Given the description of an element on the screen output the (x, y) to click on. 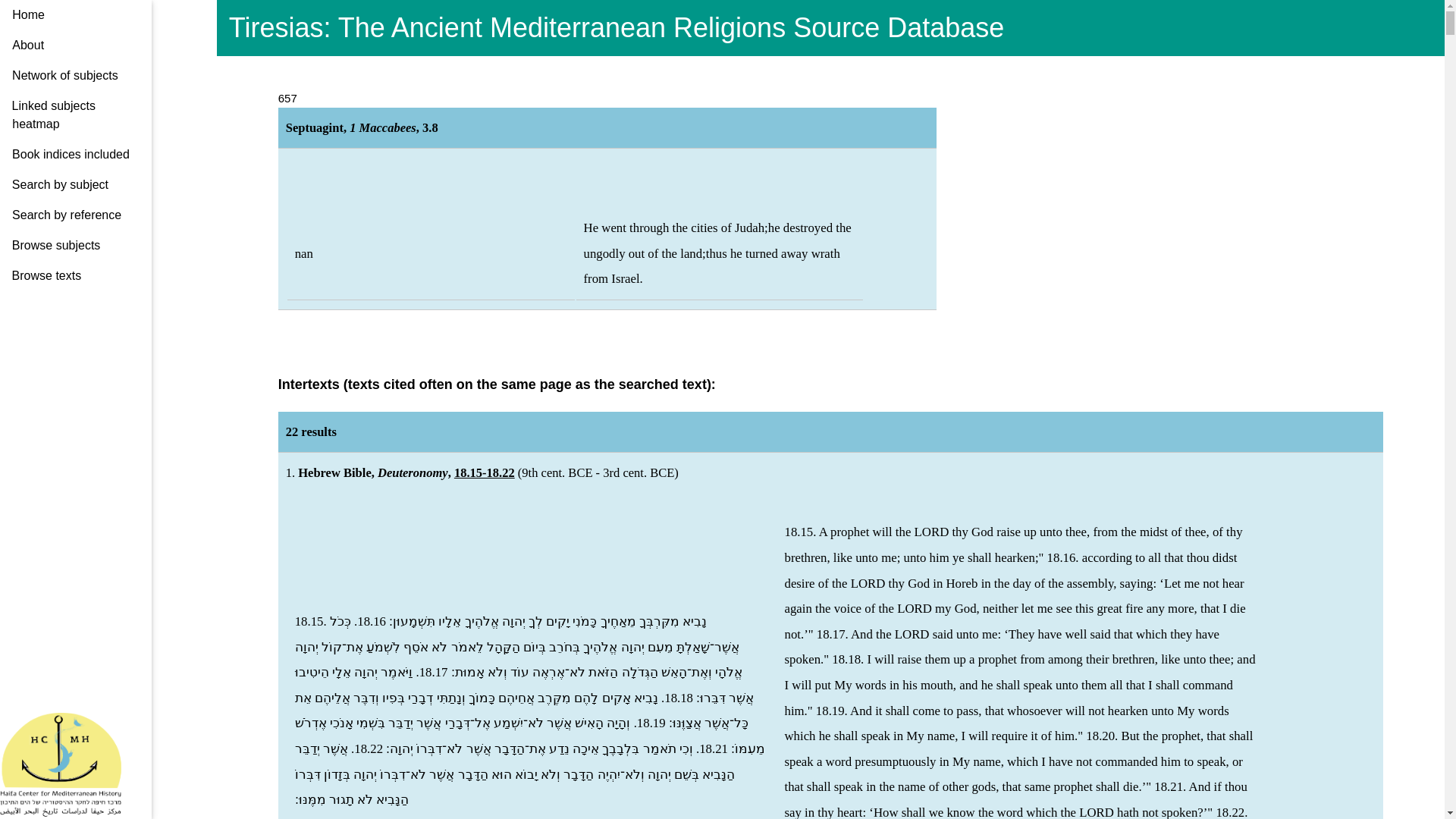
Search by reference (72, 214)
Book indices included (66, 154)
Browse texts (75, 276)
Search by subject (71, 184)
Network of subjects (53, 75)
Home (18, 15)
About (27, 45)
Linked subjects heatmap (61, 114)
Browse subjects (74, 245)
18.15-18.22 (484, 472)
